Given the description of an element on the screen output the (x, y) to click on. 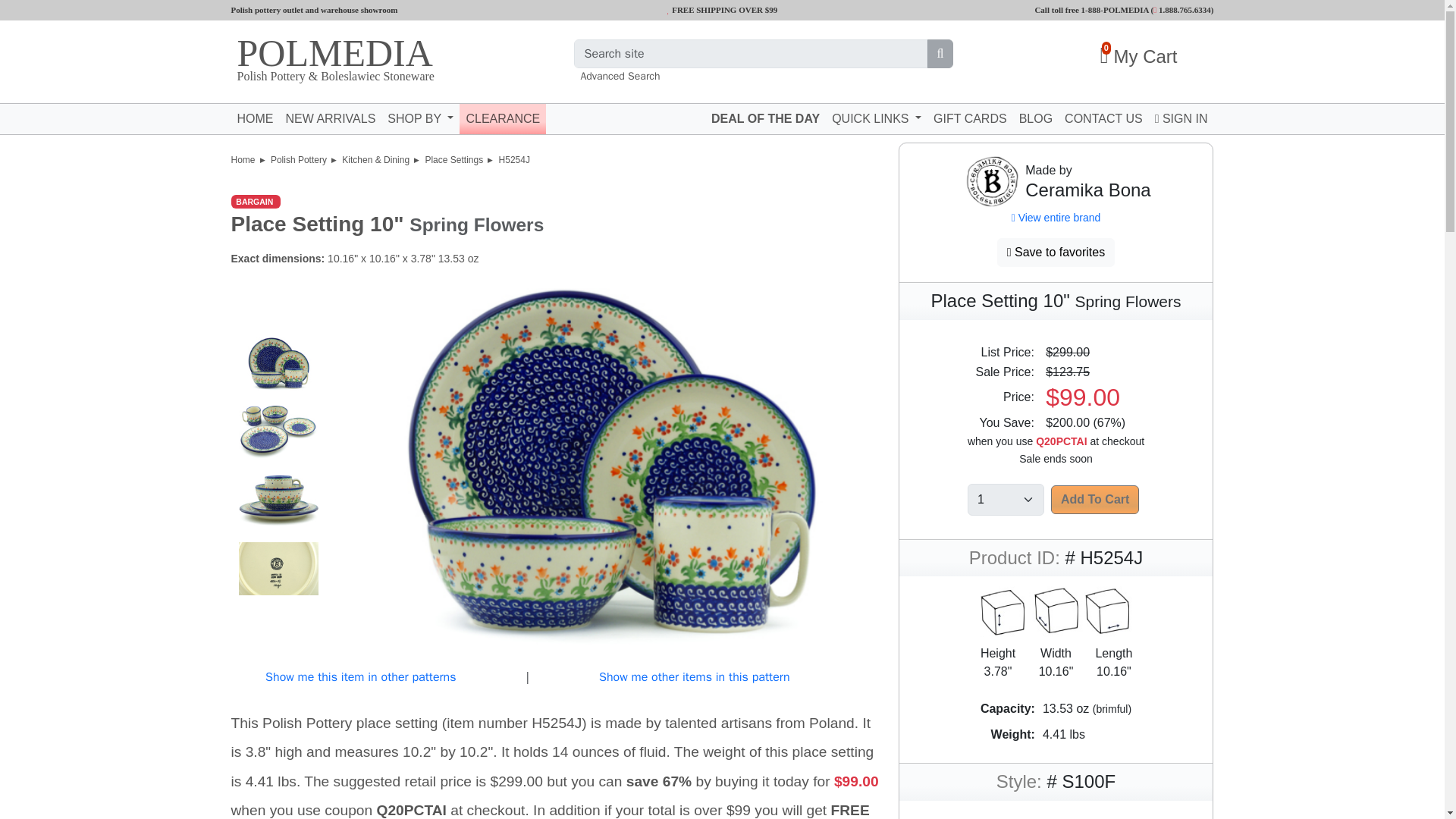
SHOP BY (420, 118)
NEW ARRIVALS (330, 118)
Polish Pottery (298, 159)
click to go to front page (1096, 55)
DEAL OF THE DAY (387, 58)
HOME (764, 118)
Add To Cart (254, 118)
GIFT CARDS (1094, 499)
1.888.765.6334 (970, 118)
SIGN IN (1182, 9)
Add to Favorites (1181, 118)
Home (1056, 252)
BLOG (242, 159)
CLEARANCE (1035, 118)
